Given the description of an element on the screen output the (x, y) to click on. 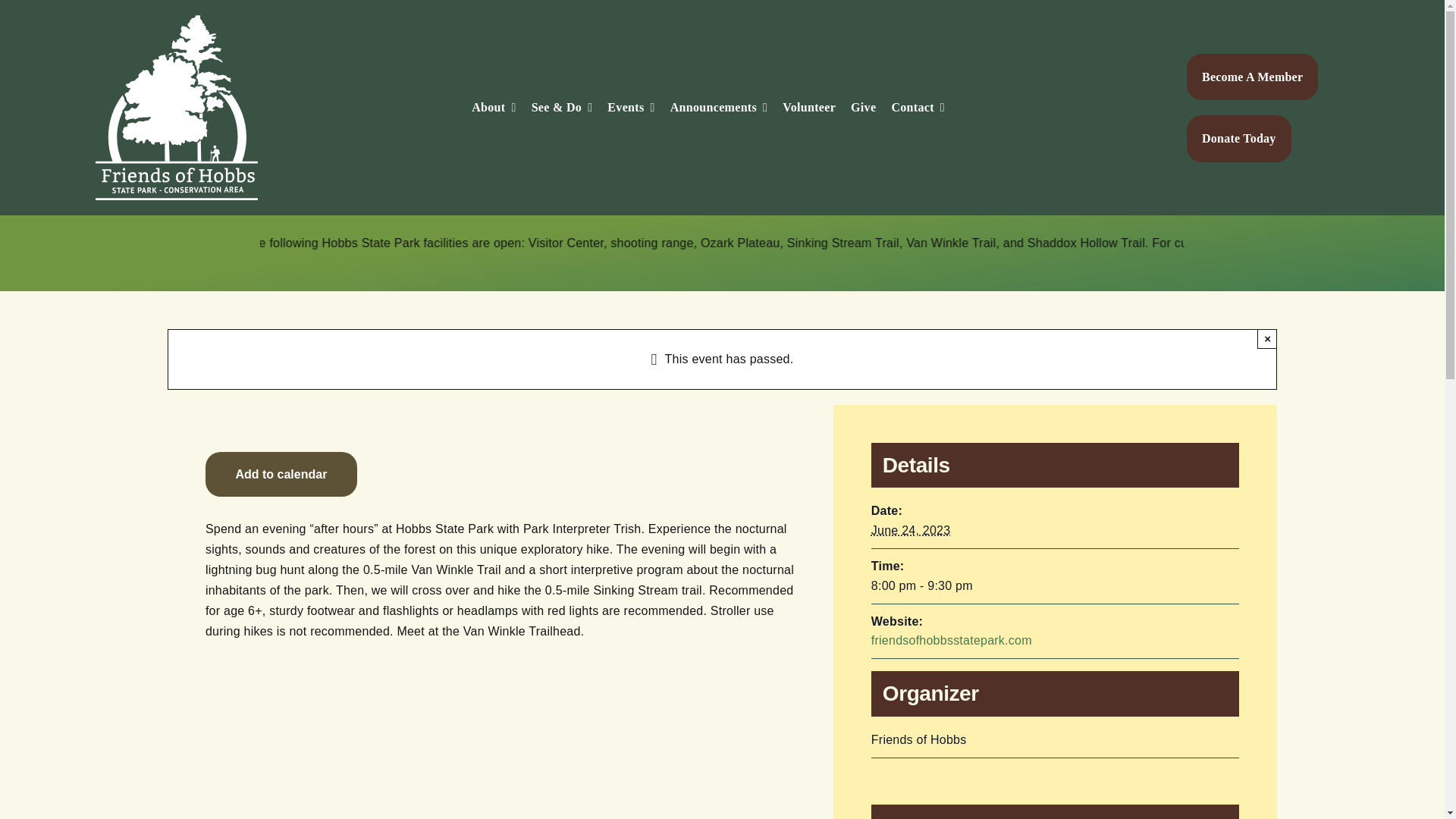
2023-06-24 (910, 530)
2023-06-24 (1054, 586)
Events (630, 107)
Announcements (718, 107)
Donate Today (1238, 138)
About (493, 107)
Volunteer (809, 107)
Become A Member (1251, 77)
Contact (917, 107)
